Given the description of an element on the screen output the (x, y) to click on. 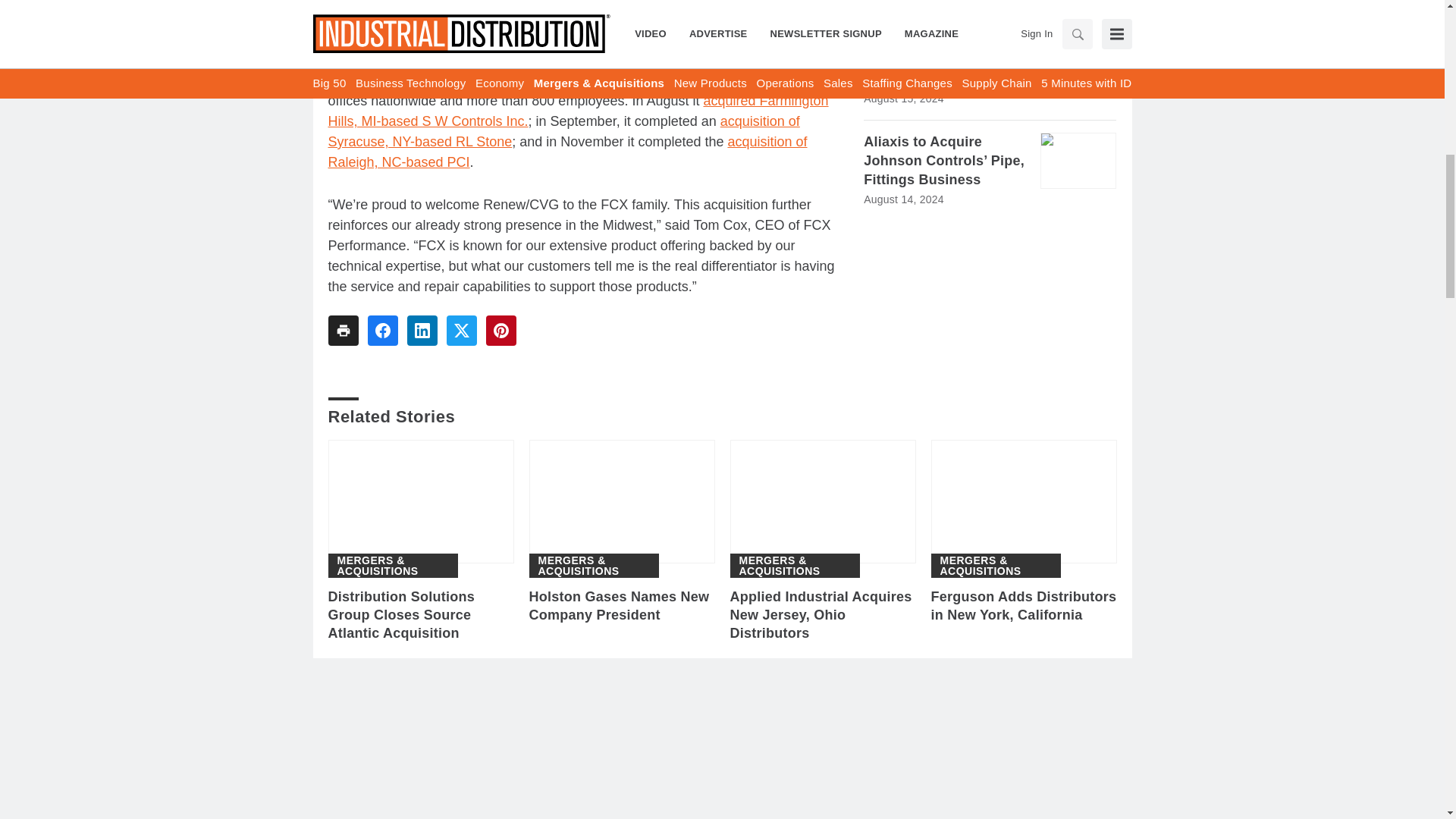
Share To pinterest (499, 330)
Share To facebook (381, 330)
Share To twitter (460, 330)
Share To print (342, 330)
Share To linkedin (421, 330)
